Given the description of an element on the screen output the (x, y) to click on. 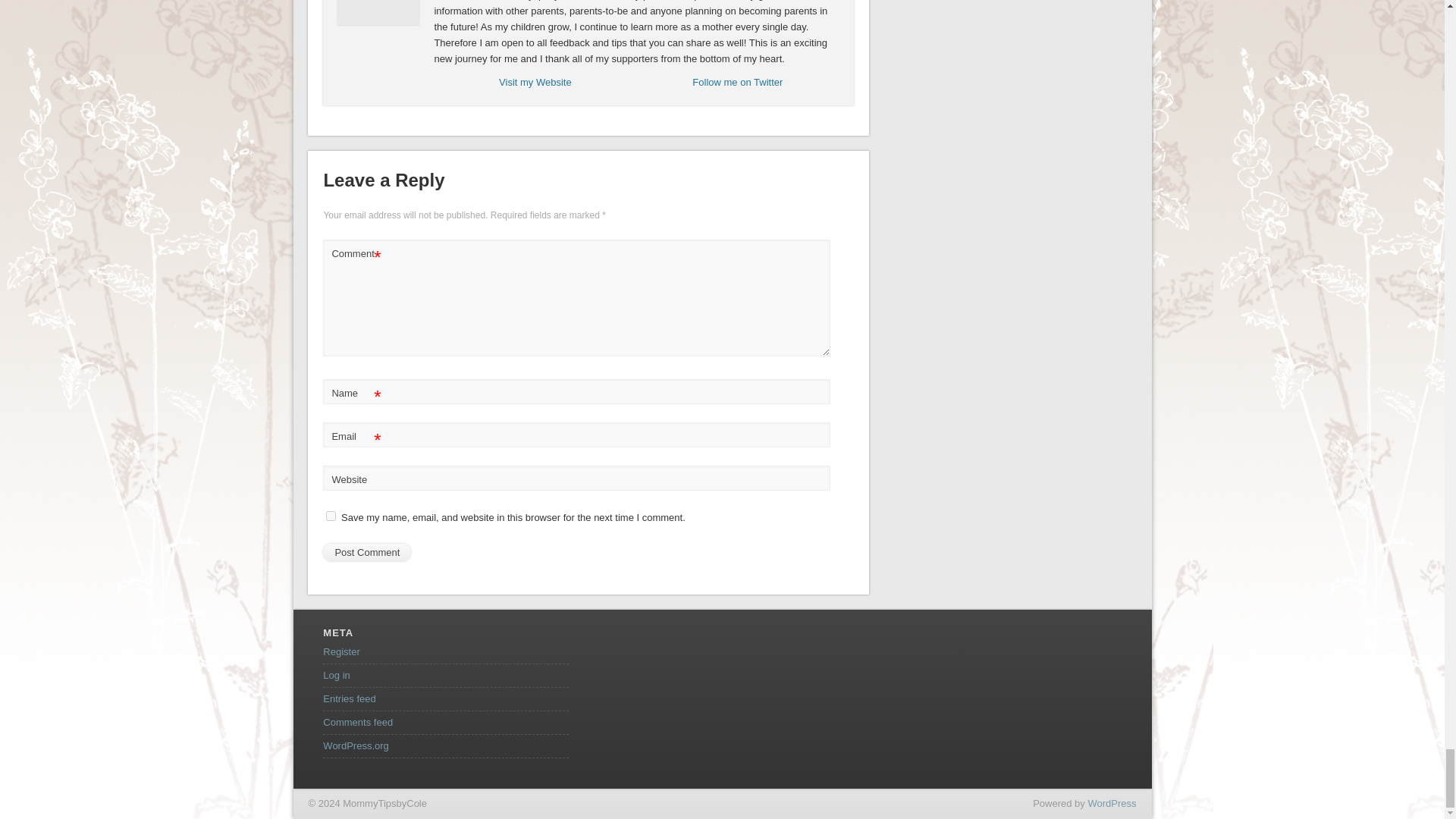
WordPress (1111, 803)
Post Comment (366, 552)
yes (331, 515)
Visit my Website (535, 81)
Follow me on Twitter (738, 81)
Post Comment (366, 552)
